Given the description of an element on the screen output the (x, y) to click on. 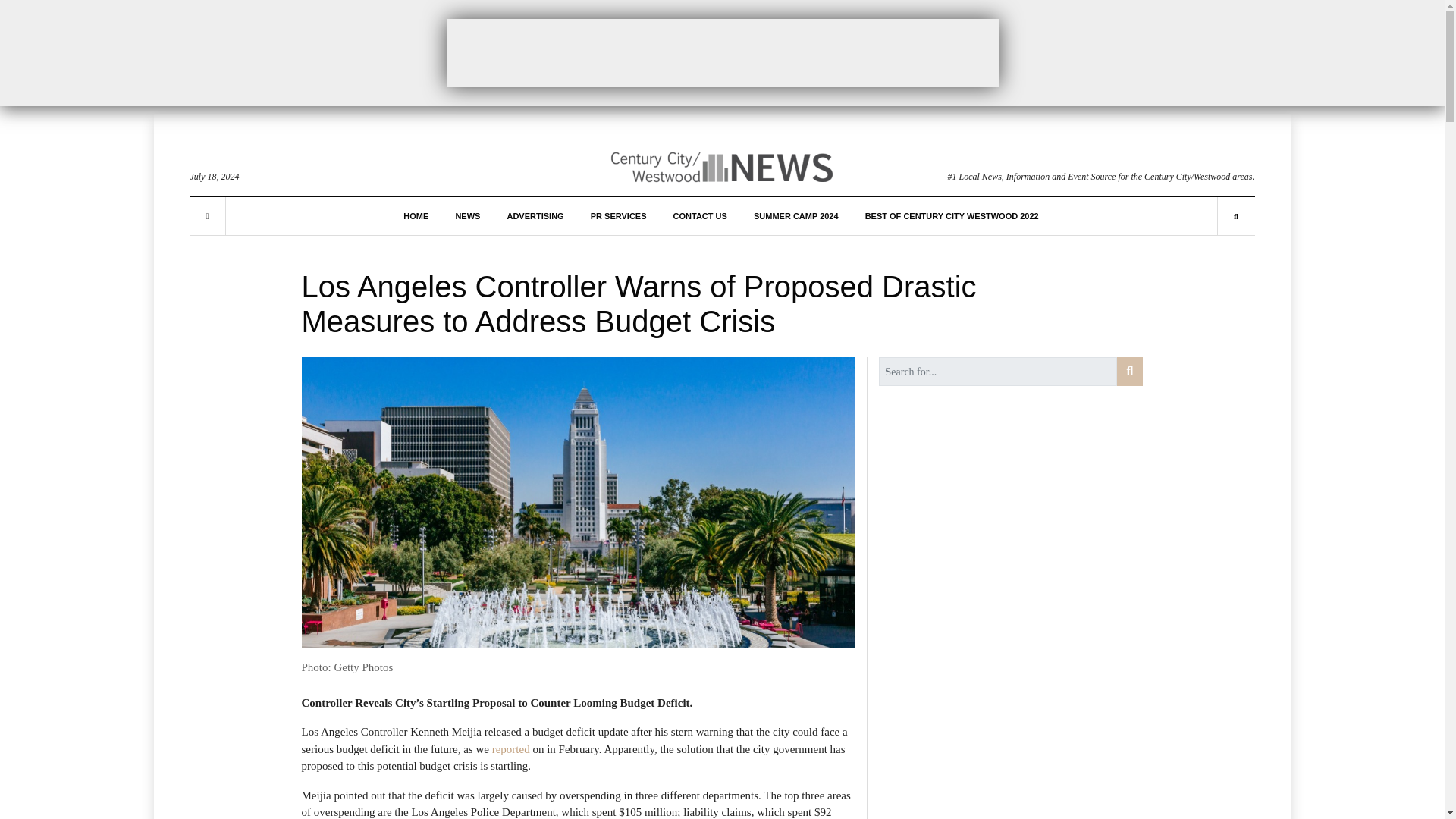
BEST OF CENTURY CITY WESTWOOD 2022 (951, 216)
PR SERVICES (618, 216)
reported (510, 748)
ADVERTISING (534, 216)
CONTACT US (699, 216)
3rd party ad content (721, 52)
SUMMER CAMP 2024 (796, 216)
